Given the description of an element on the screen output the (x, y) to click on. 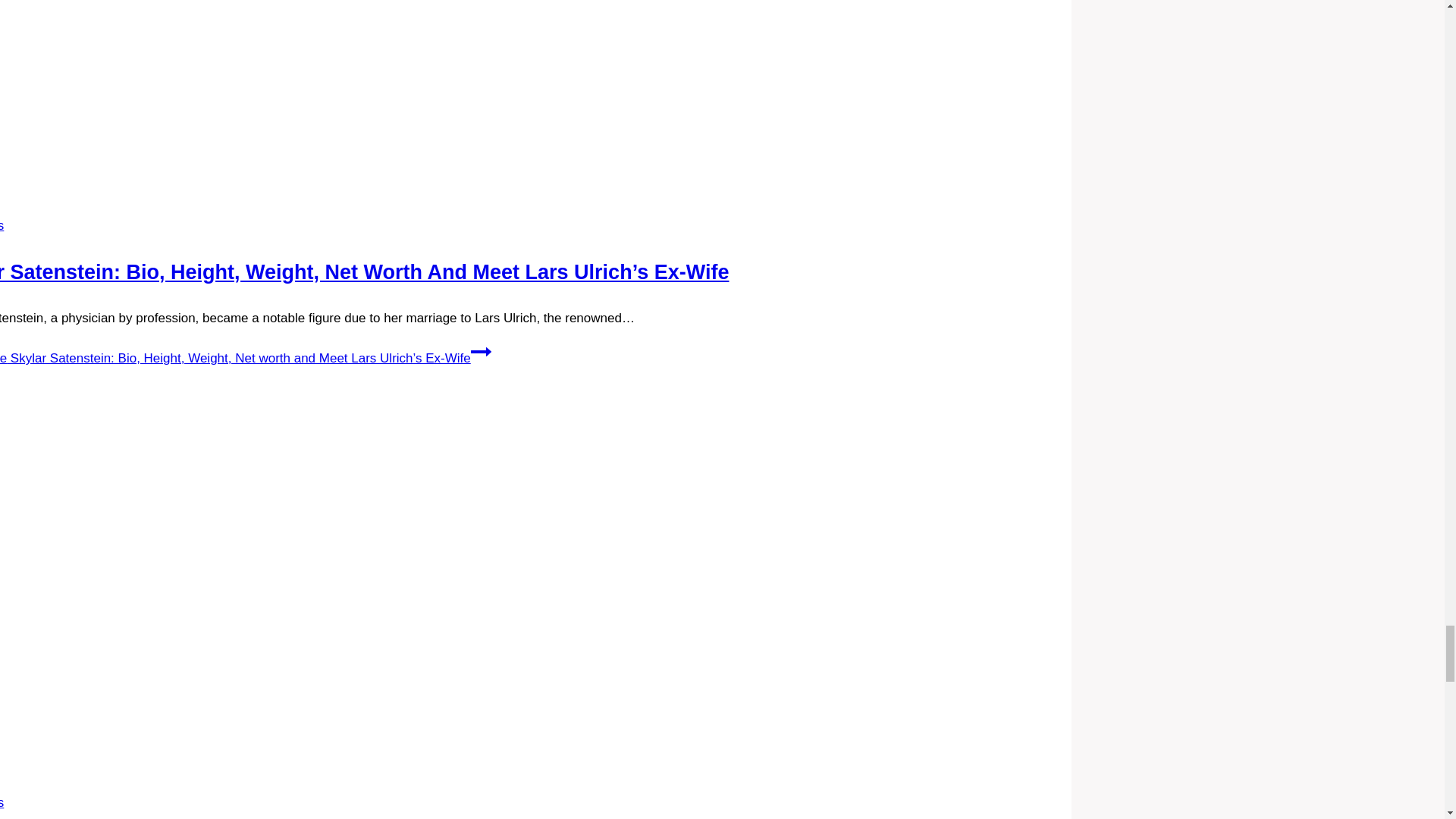
Continue (481, 351)
